Given the description of an element on the screen output the (x, y) to click on. 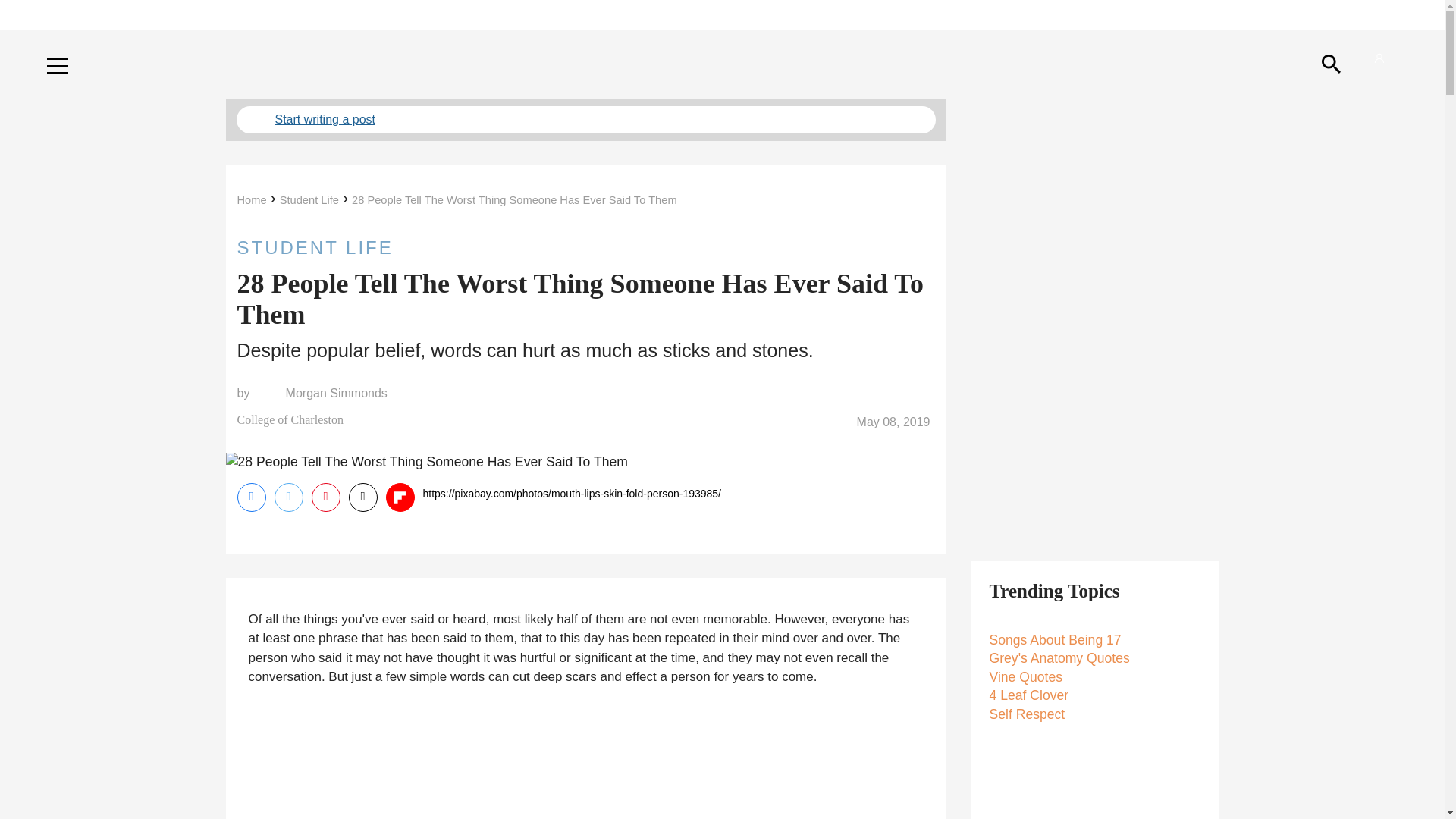
STUDENT LIFE (584, 248)
Start writing a post (585, 119)
Home (250, 200)
Student Life (309, 200)
Morgan Simmonds (336, 393)
28 People Tell The Worst Thing Someone Has Ever Said To Them (514, 200)
